Given the description of an element on the screen output the (x, y) to click on. 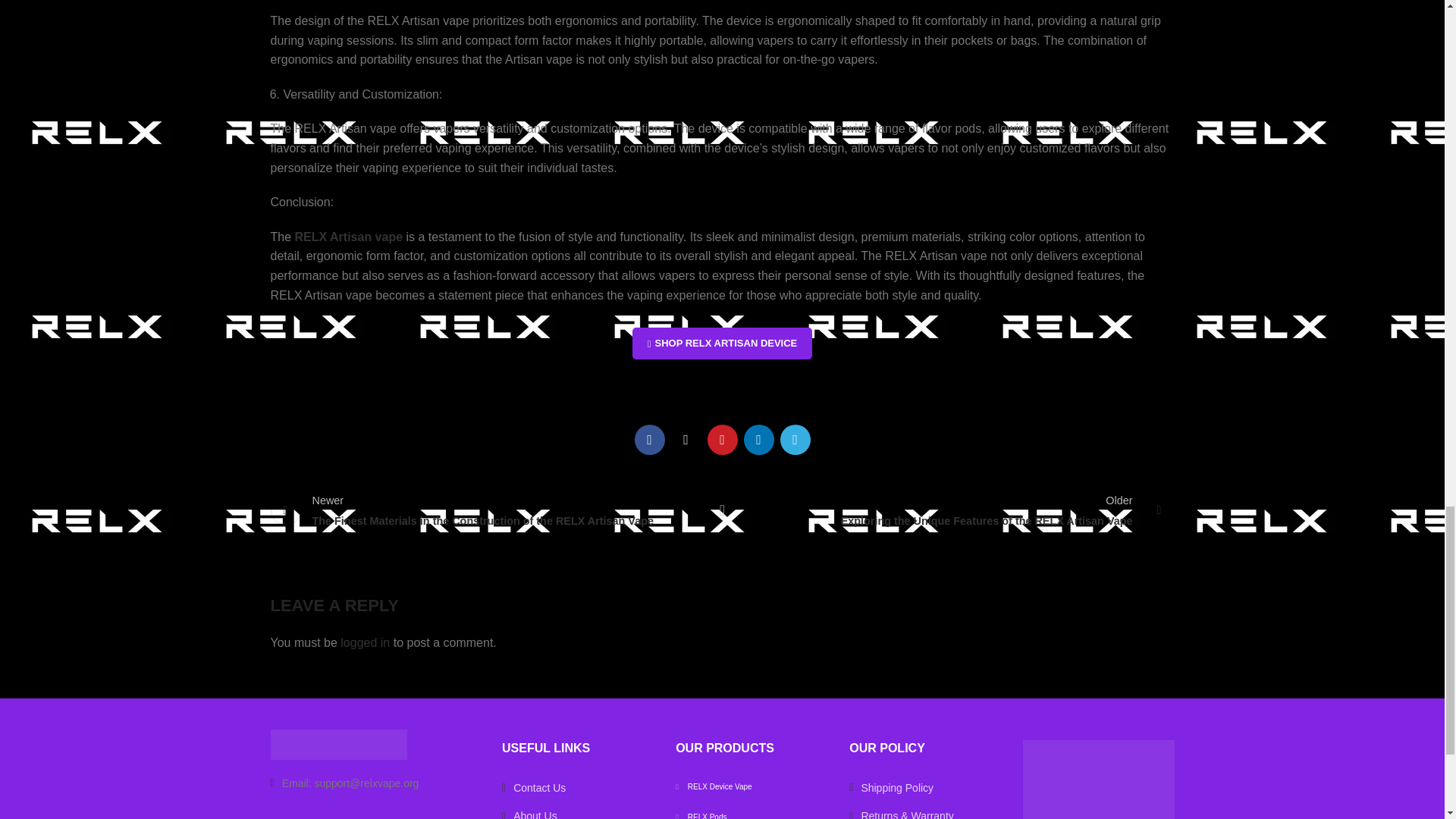
About Us (577, 813)
Contact Us (374, 782)
Contact Us (577, 787)
relx artisan device (721, 343)
